Given the description of an element on the screen output the (x, y) to click on. 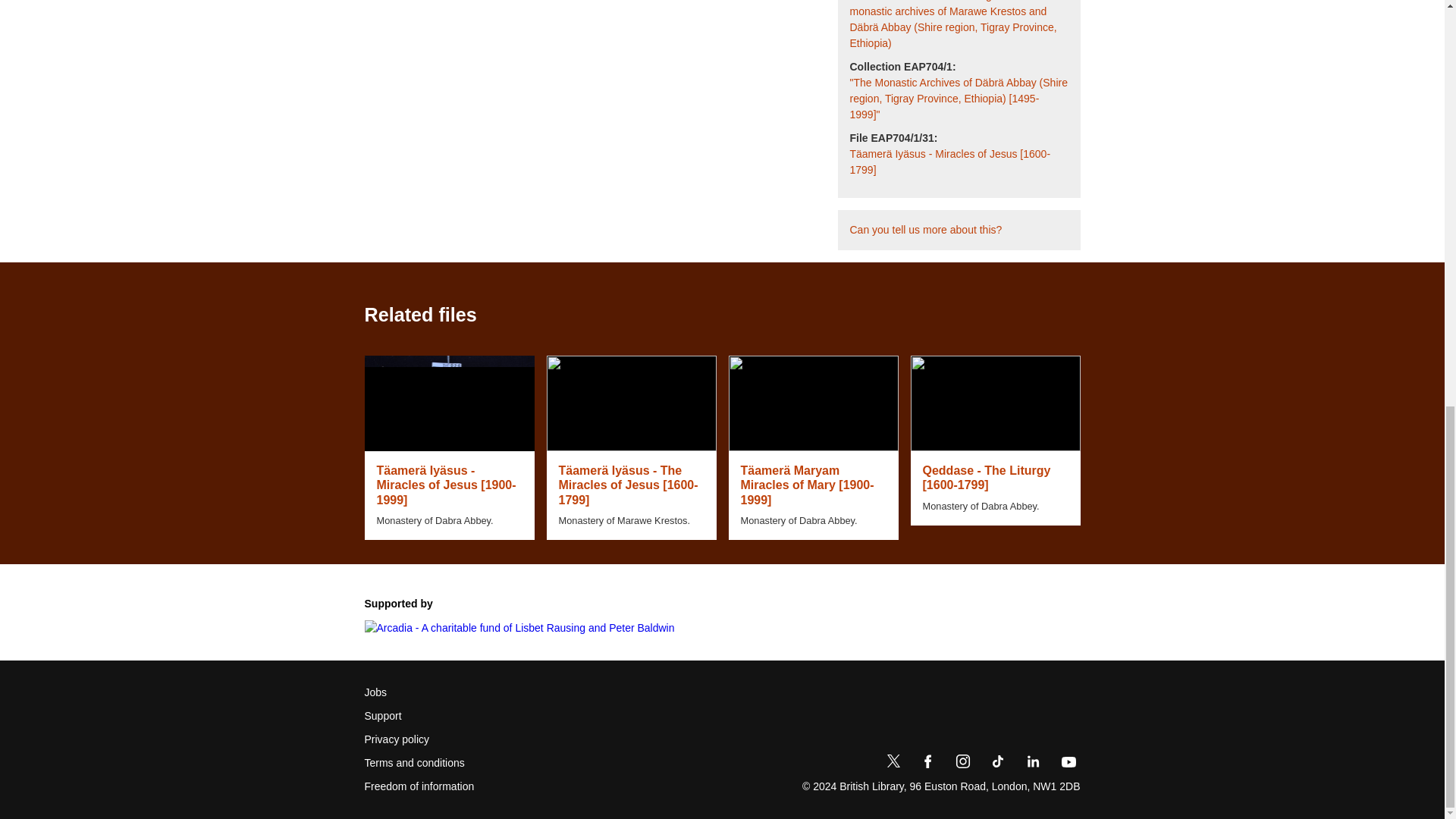
Terms and conditions (414, 763)
Can you tell us more about this? (924, 229)
Freedom of information (419, 786)
Jobs (375, 692)
Privacy policy (396, 739)
Support (382, 715)
